Given the description of an element on the screen output the (x, y) to click on. 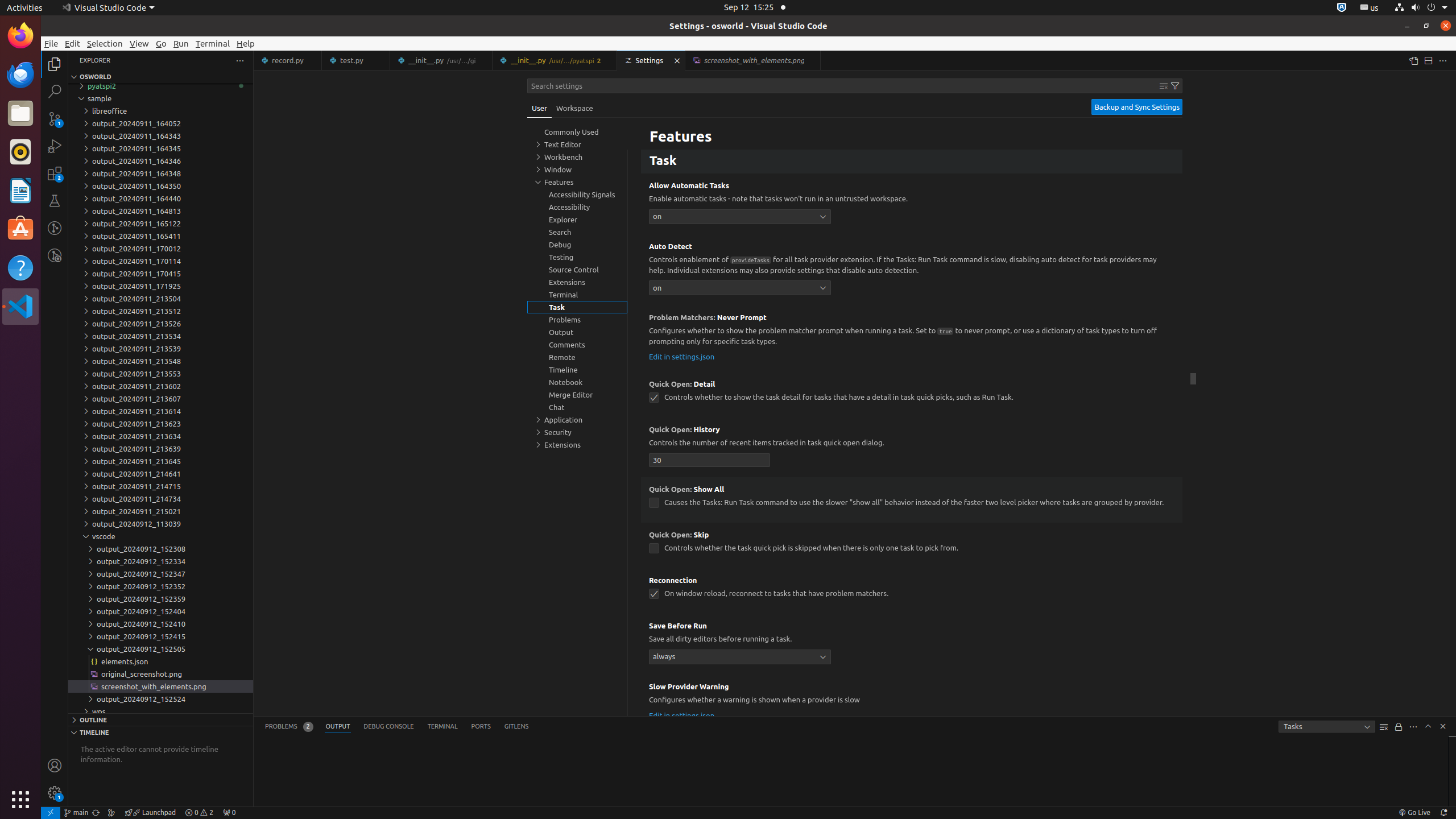
Output, group Element type: tree-item (577, 331)
Notifications Element type: push-button (1443, 812)
Window, group Element type: tree-item (577, 169)
Go Element type: push-button (161, 43)
